Given the description of an element on the screen output the (x, y) to click on. 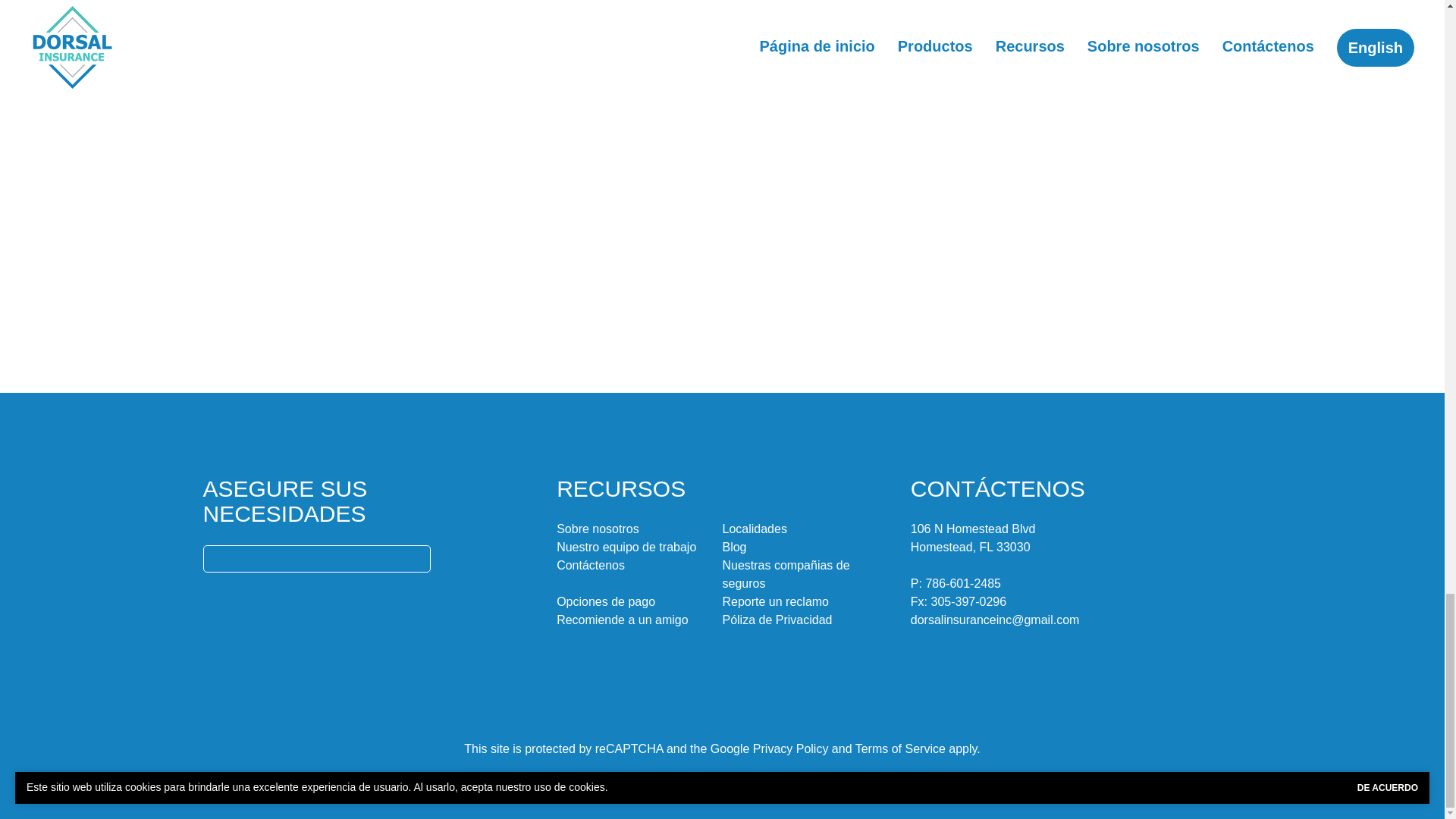
Buscar (416, 558)
Insurance Website Builder (831, 779)
